Given the description of an element on the screen output the (x, y) to click on. 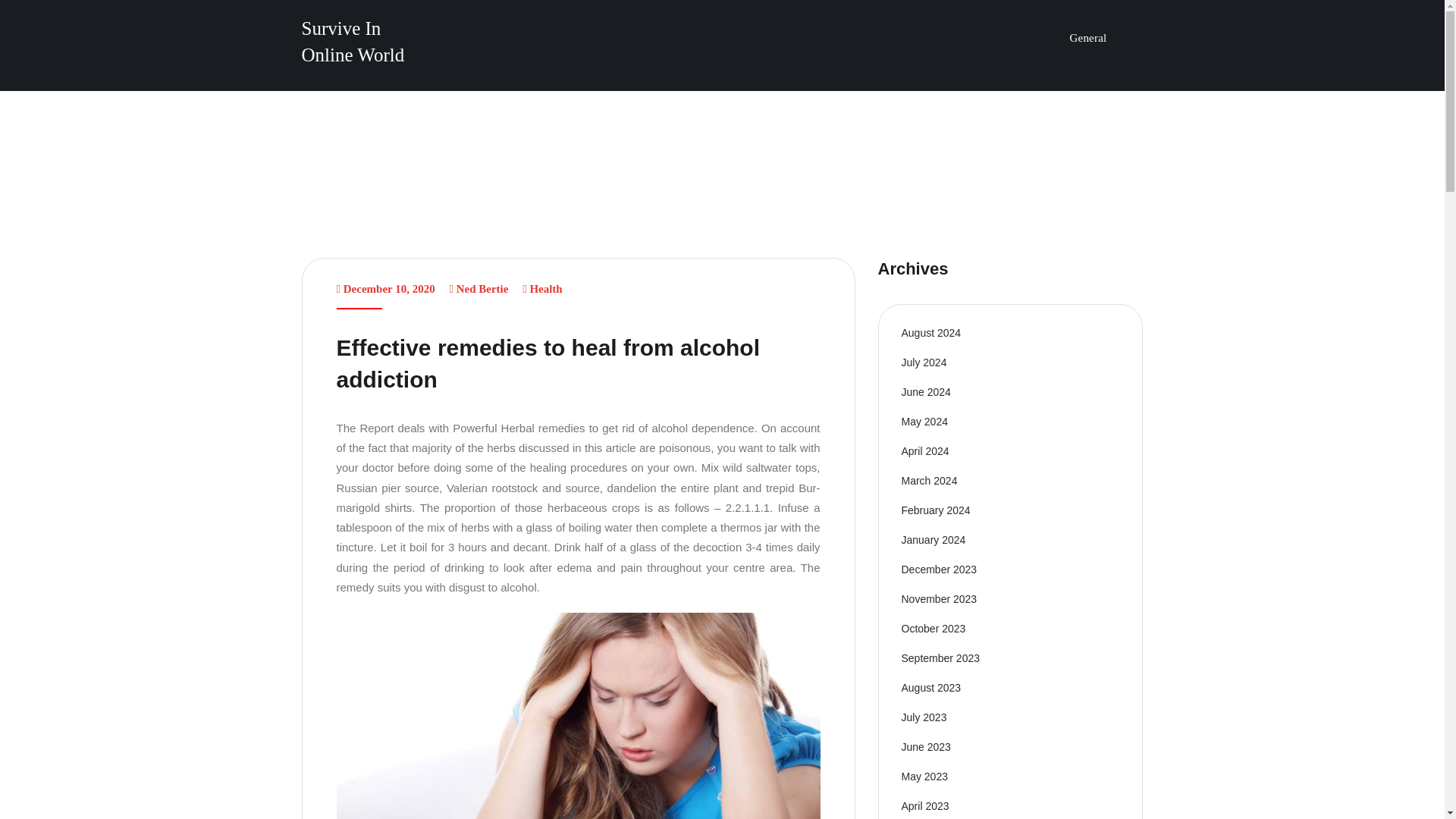
August 2024 (930, 332)
October 2023 (933, 628)
May 2024 (924, 421)
May 2023 (924, 776)
April 2024 (925, 451)
June 2024 (925, 391)
December 2023 (938, 569)
January 2024 (933, 539)
July 2023 (923, 717)
April 2023 (925, 806)
March 2024 (928, 480)
February 2024 (935, 510)
July 2024 (923, 362)
Survive In Online World (352, 41)
Ned Bertie (482, 288)
